Given the description of an element on the screen output the (x, y) to click on. 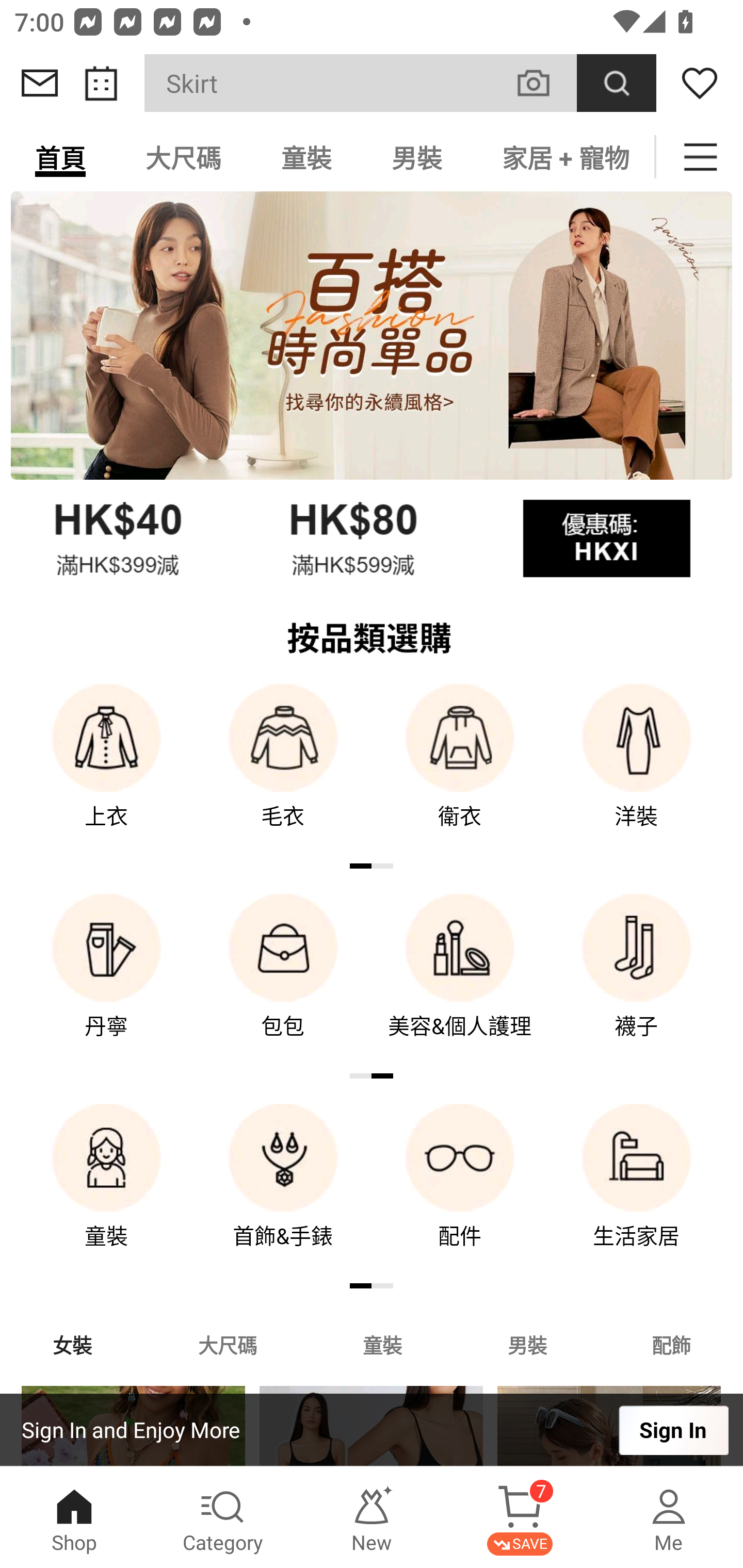
Wishlist (699, 82)
VISUAL SEARCH (543, 82)
首頁 (60, 156)
大尺碼 (183, 156)
童裝 (306, 156)
男裝 (416, 156)
家居 + 寵物 (563, 156)
上衣 (105, 769)
毛衣 (282, 769)
衛衣 (459, 769)
洋裝 (636, 769)
丹寧 (105, 979)
包包 (282, 979)
美容&個人護理 (459, 979)
襪子 (636, 979)
童裝 (105, 1189)
首飾&手錶 (282, 1189)
配件 (459, 1189)
生活家居 (636, 1189)
女裝 (72, 1344)
大尺碼 (226, 1344)
童裝 (381, 1344)
男裝 (527, 1344)
配飾 (671, 1344)
Sign In and Enjoy More Sign In (371, 1429)
Category (222, 1517)
New (371, 1517)
Cart 7 SAVE (519, 1517)
Me (668, 1517)
